Given the description of an element on the screen output the (x, y) to click on. 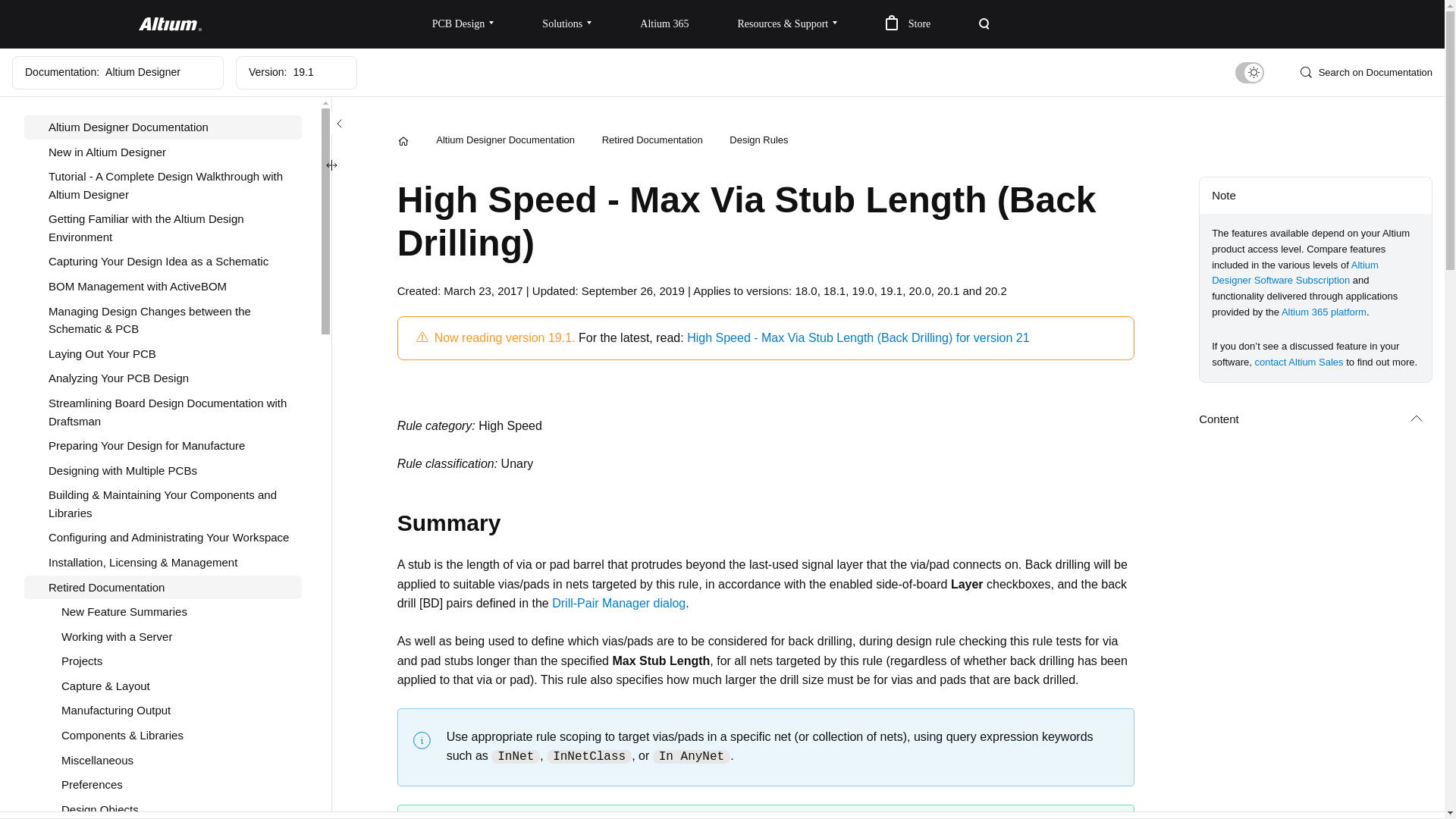
Solutions (566, 24)
Search Open (984, 24)
Store (908, 24)
PCB Design (462, 24)
Altium 365 (664, 24)
